Given the description of an element on the screen output the (x, y) to click on. 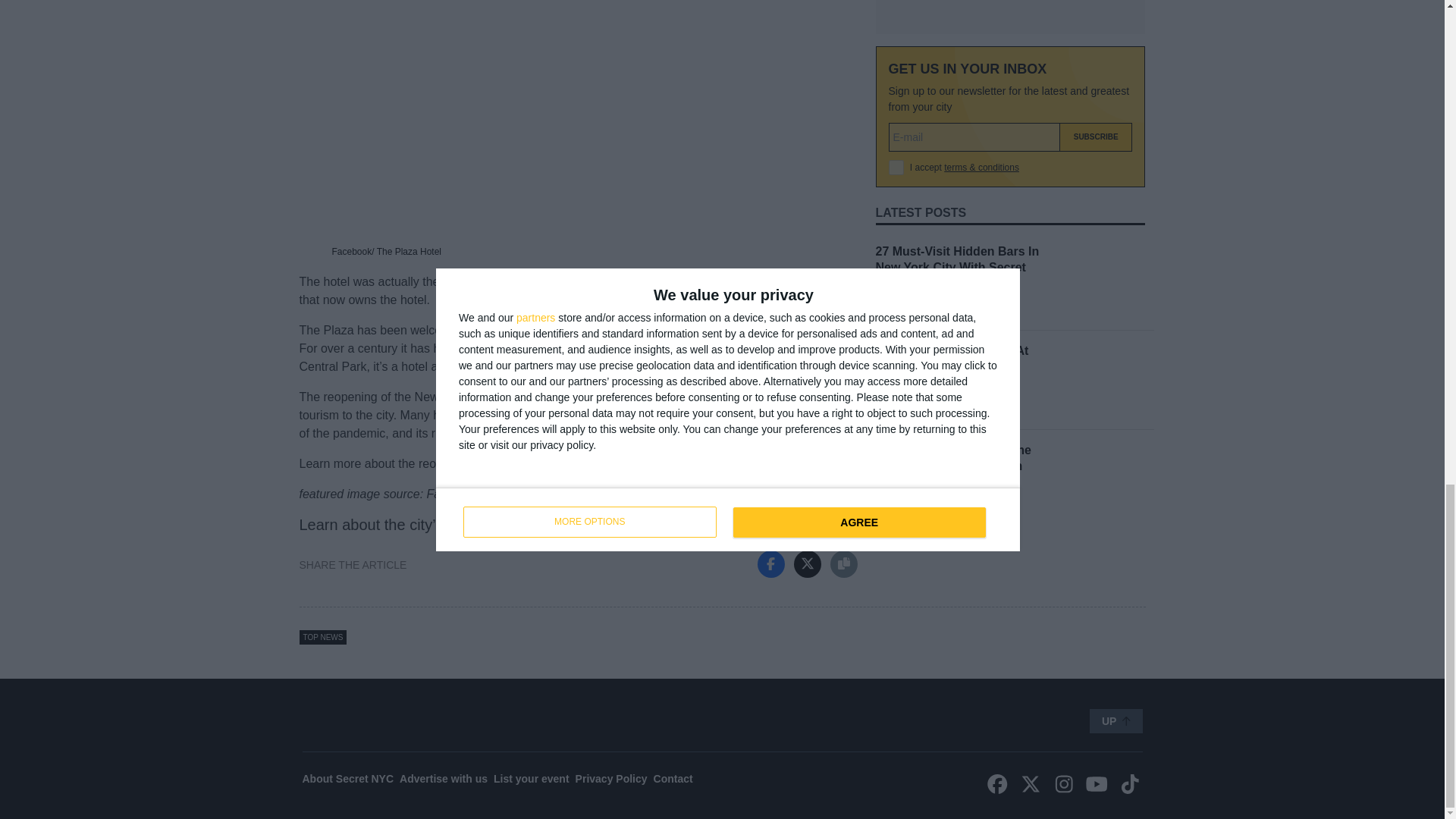
AUGUST 14, 2024 (913, 163)
massive campaign to bring back tourists to NYC (608, 524)
here (646, 463)
AUGUST 14, 2024 (913, 64)
Katara Hospitality (722, 281)
